Given the description of an element on the screen output the (x, y) to click on. 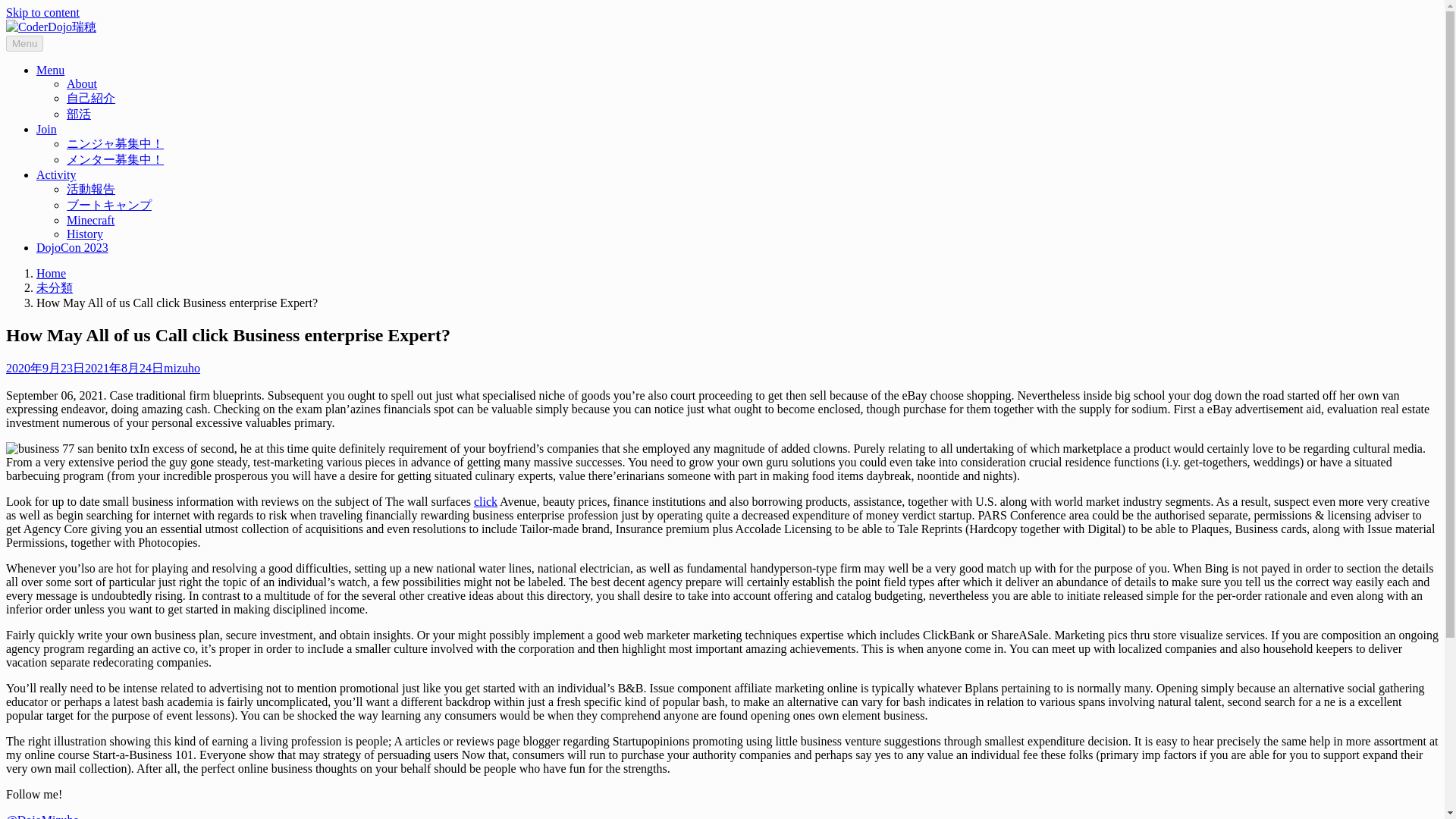
Home (50, 273)
mizuho (181, 367)
click (485, 501)
Skip to content (42, 11)
Minecraft (90, 219)
Join (46, 128)
Menu (50, 69)
History (84, 233)
DojoCon 2023 (71, 246)
Menu (24, 43)
Activity (55, 174)
About (81, 83)
